Given the description of an element on the screen output the (x, y) to click on. 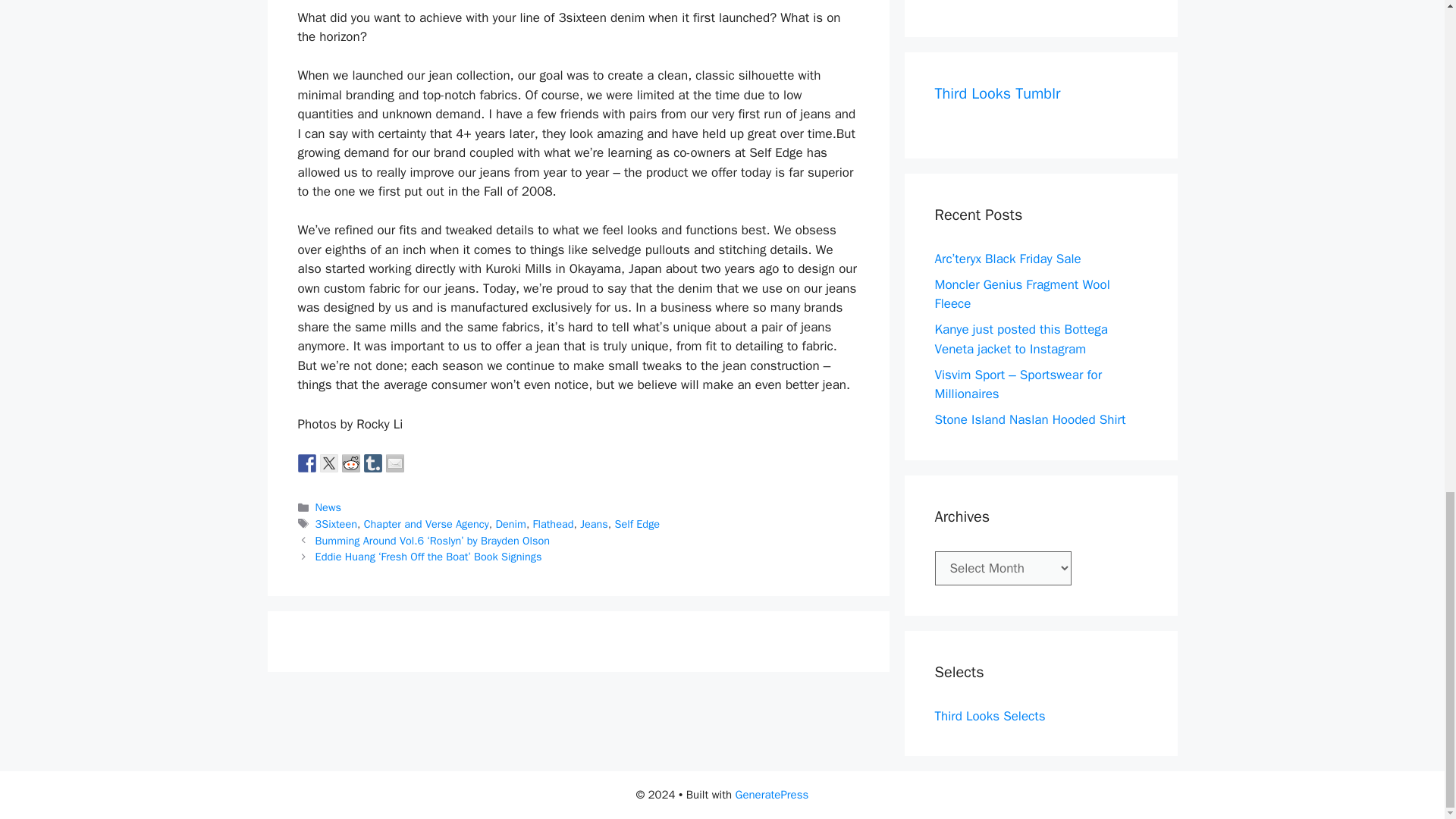
Flathead (552, 523)
News (327, 507)
Share on tumblr (372, 463)
3Sixteen (335, 523)
Share on Twitter (328, 463)
Share on Reddit (349, 463)
Share by email (394, 463)
Denim (510, 523)
Chapter and Verse Agency (426, 523)
Share on Facebook (306, 463)
Self Edge (636, 523)
Jeans (593, 523)
